Given the description of an element on the screen output the (x, y) to click on. 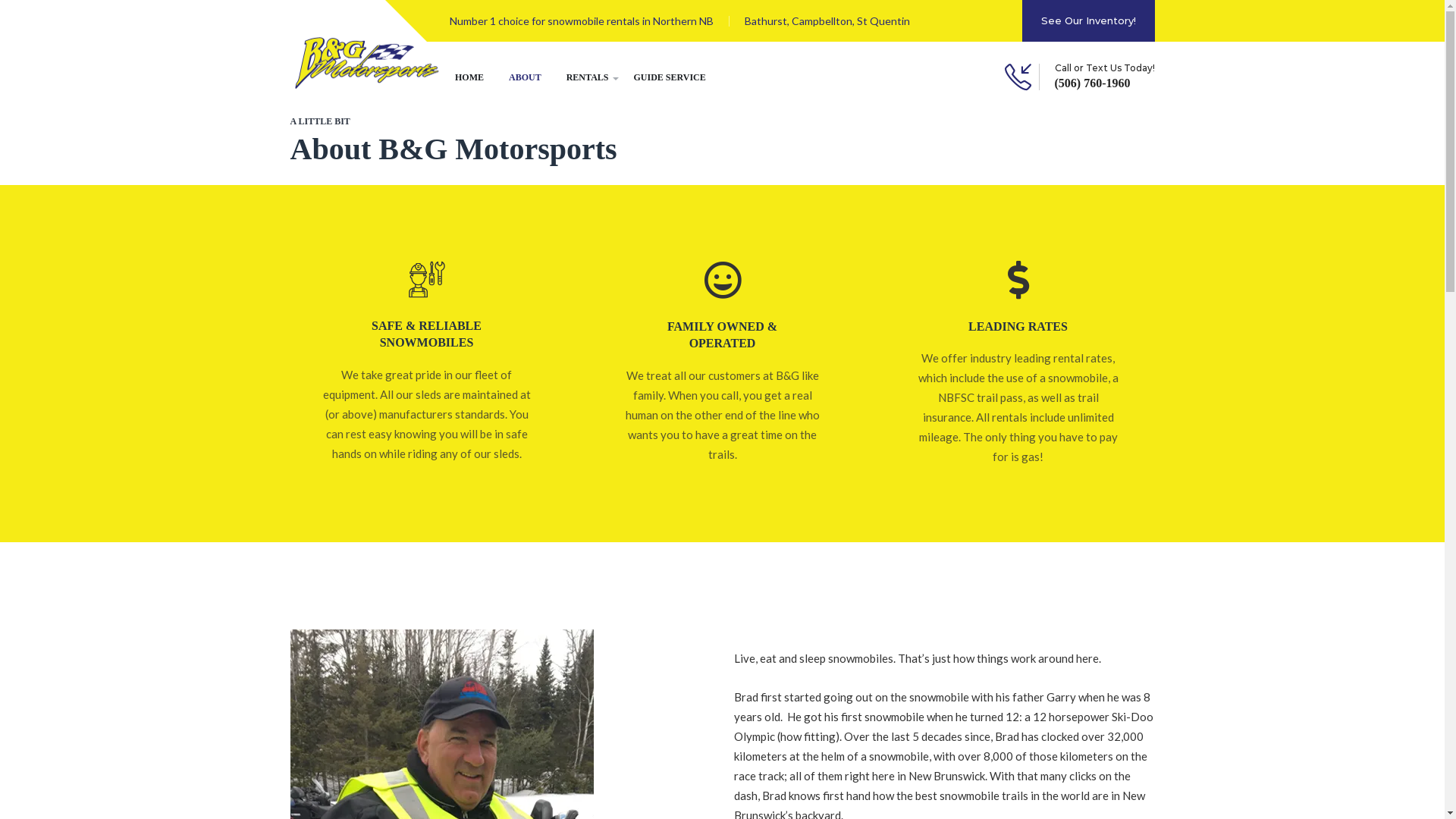
(506) 760-1960 Element type: text (1104, 83)
ABOUT Element type: text (523, 82)
HOME Element type: text (466, 82)
GUIDE SERVICE Element type: text (663, 82)
See Our Inventory! Element type: text (1088, 20)
RENTALS Element type: text (585, 82)
